Given the description of an element on the screen output the (x, y) to click on. 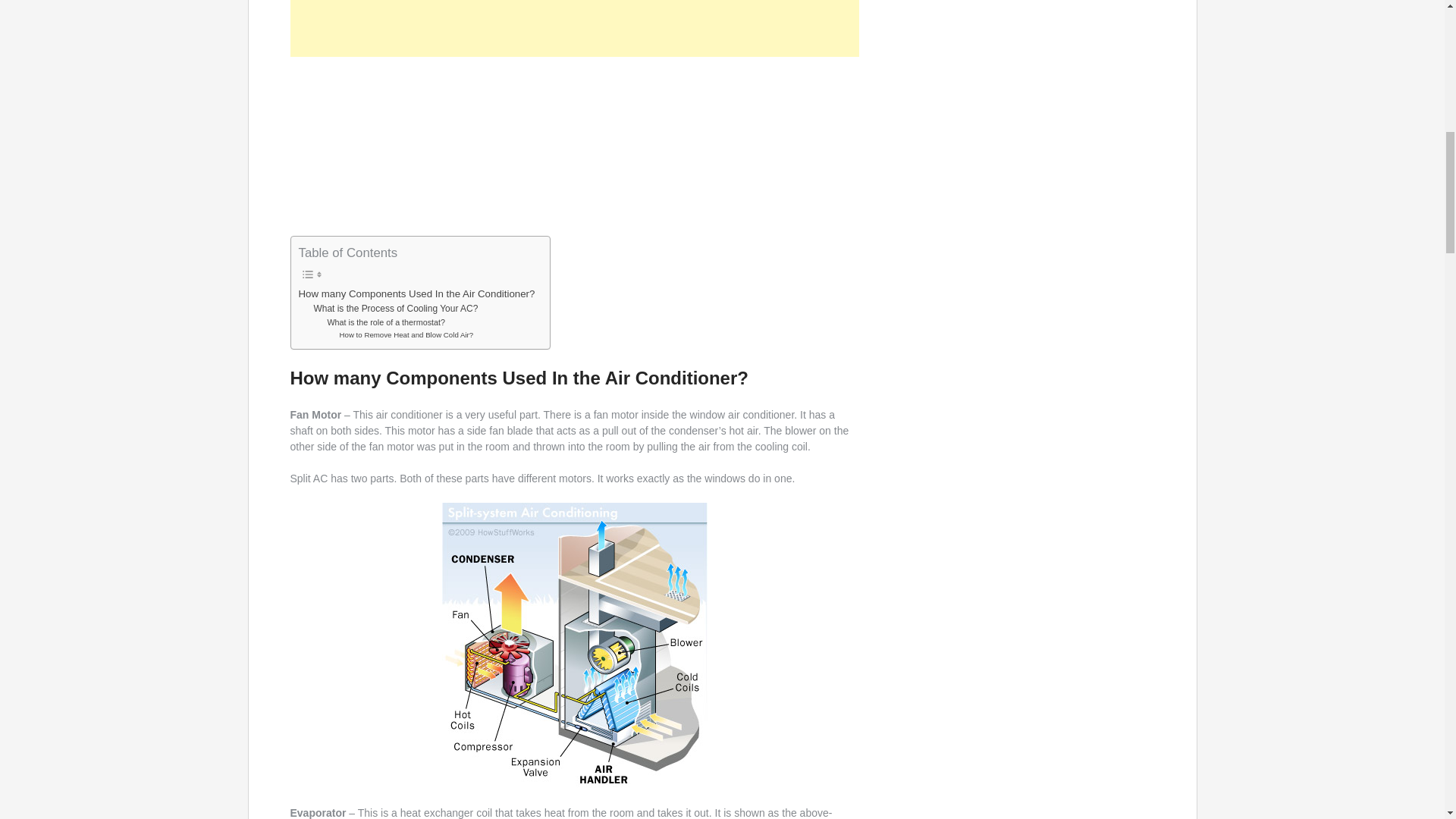
What is the Process of Cooling Your AC? (395, 309)
How many Components Used In the Air Conditioner? (416, 293)
What is the role of a thermostat? (385, 322)
How many Components Used In the Air Conditioner? (416, 293)
What is the Process of Cooling Your AC? (395, 309)
Advertisement (574, 143)
How to Remove Heat and Blow Cold Air? (406, 335)
How to Remove Heat and Blow Cold Air? (406, 335)
What is the role of a thermostat? (385, 322)
